Given the description of an element on the screen output the (x, y) to click on. 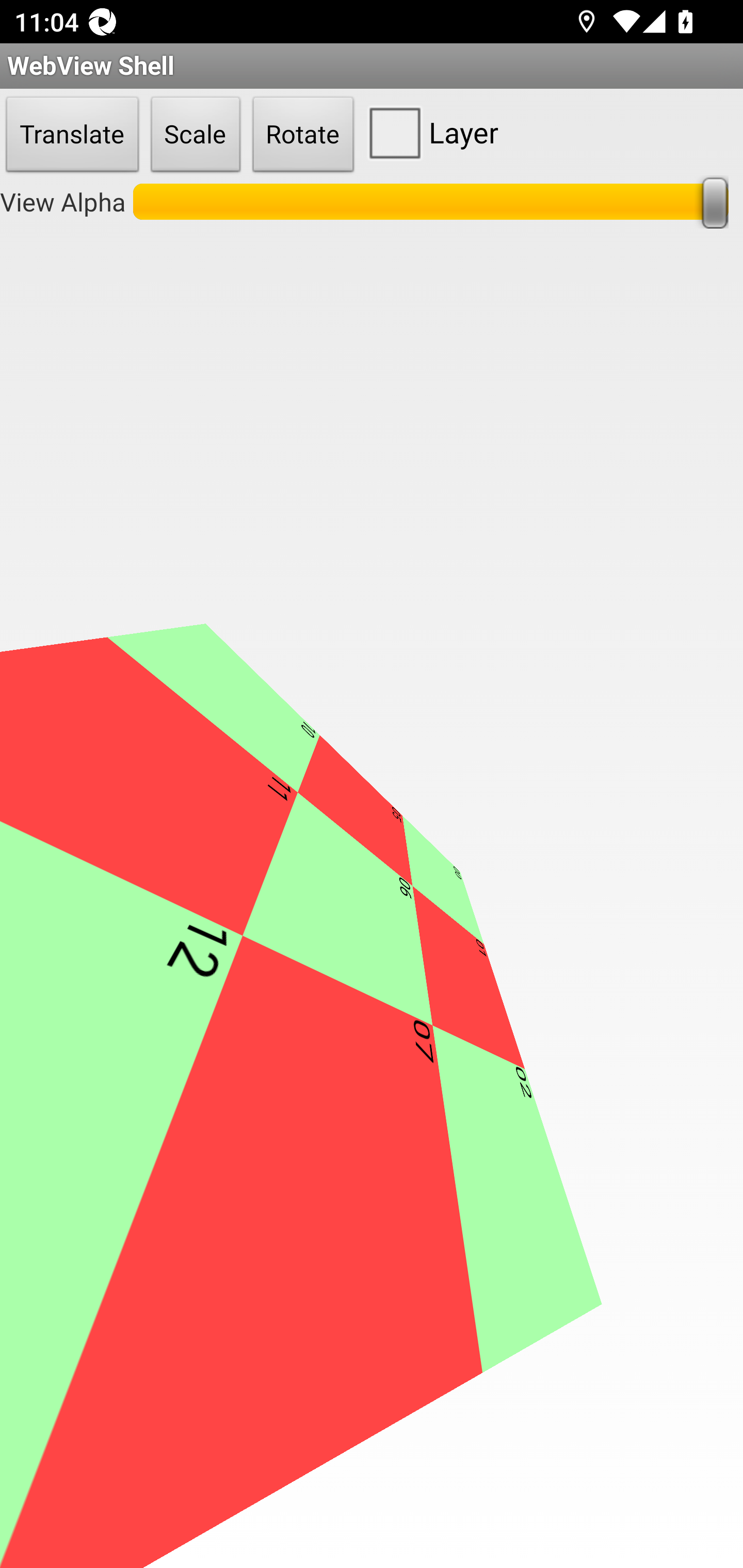
Layer (429, 132)
Translate (72, 135)
Scale (195, 135)
Rotate (303, 135)
